Given the description of an element on the screen output the (x, y) to click on. 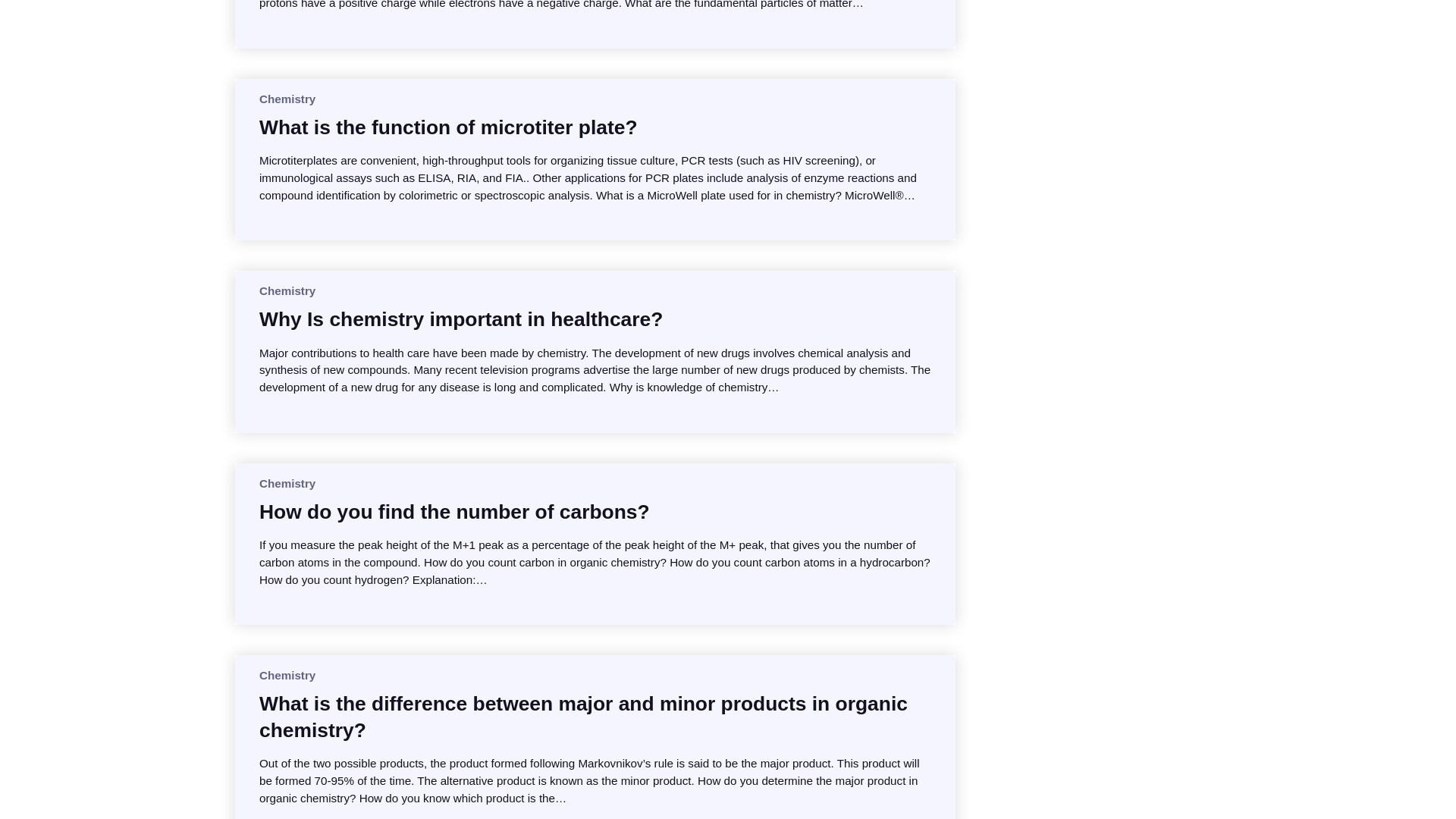
Chemistry (287, 482)
Chemistry (287, 290)
What is the function of microtiter plate? (448, 127)
Chemistry (287, 675)
Chemistry (287, 98)
Why Is chemistry important in healthcare? (460, 319)
How do you find the number of carbons? (454, 511)
